Given the description of an element on the screen output the (x, y) to click on. 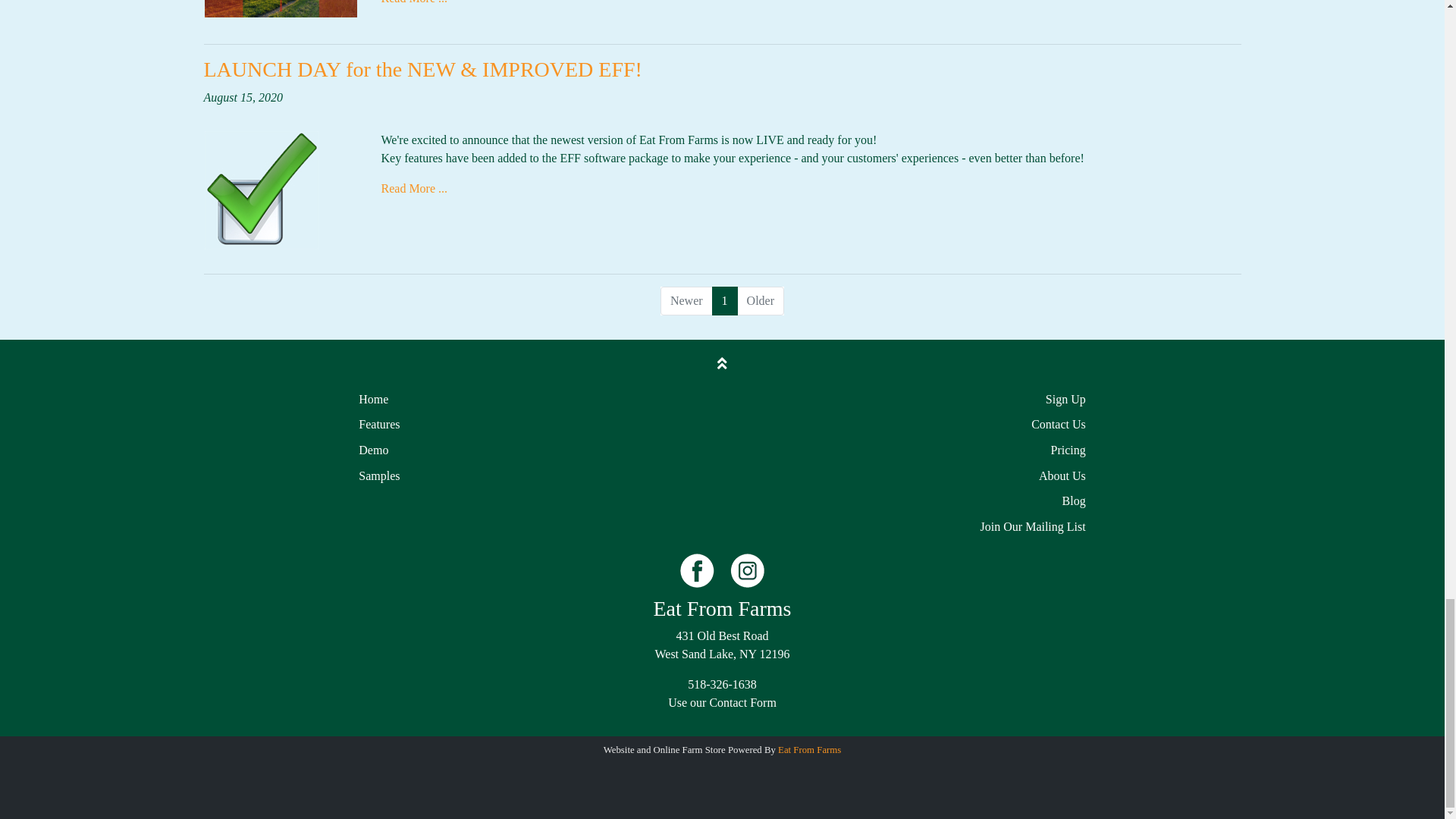
Use our Contact Form to send a message to Eat From Farms (722, 702)
return to Eat From Farms homepage (722, 608)
Read More ... (413, 2)
